Given the description of an element on the screen output the (x, y) to click on. 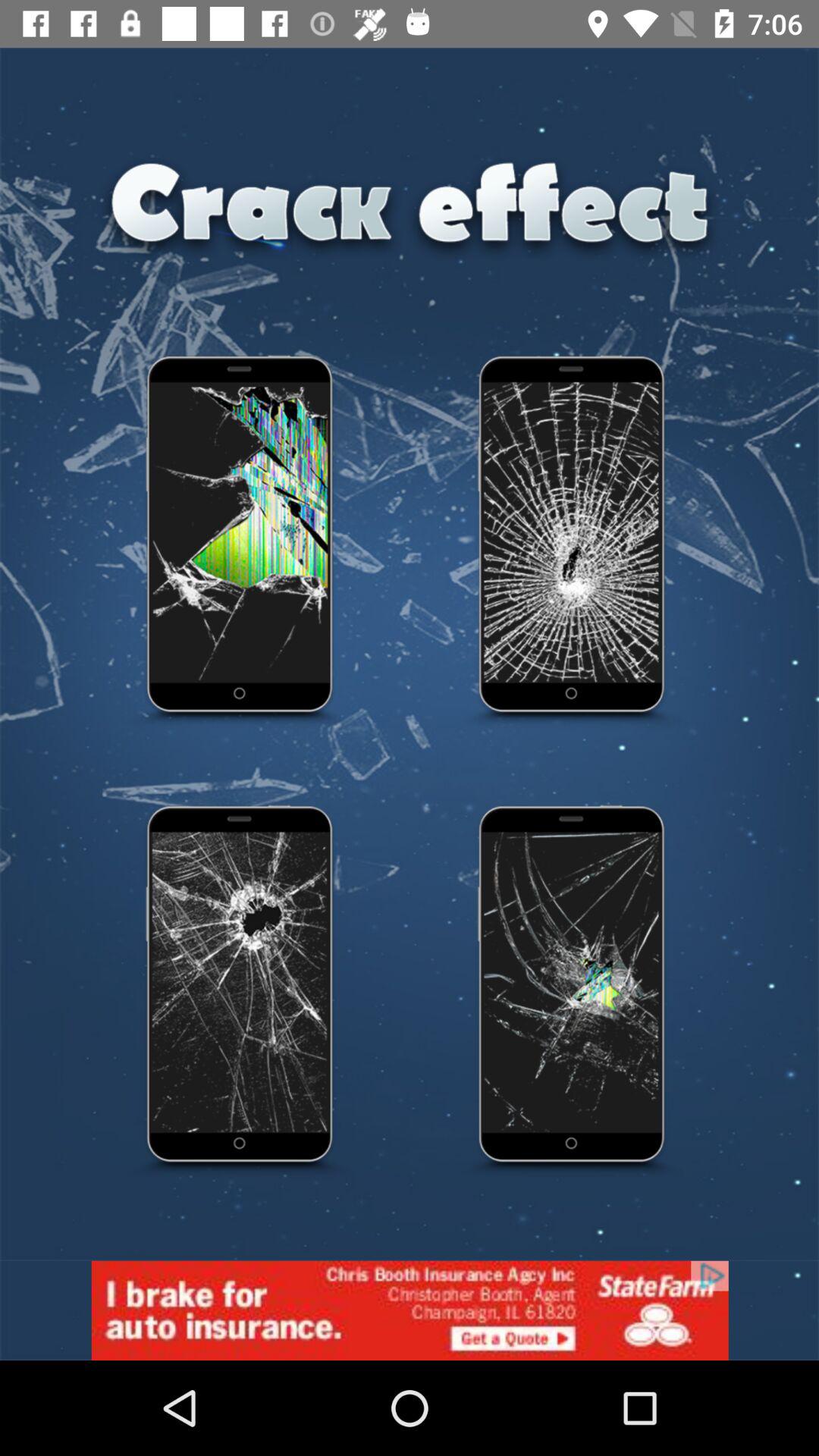
toggle screen (572, 992)
